Given the description of an element on the screen output the (x, y) to click on. 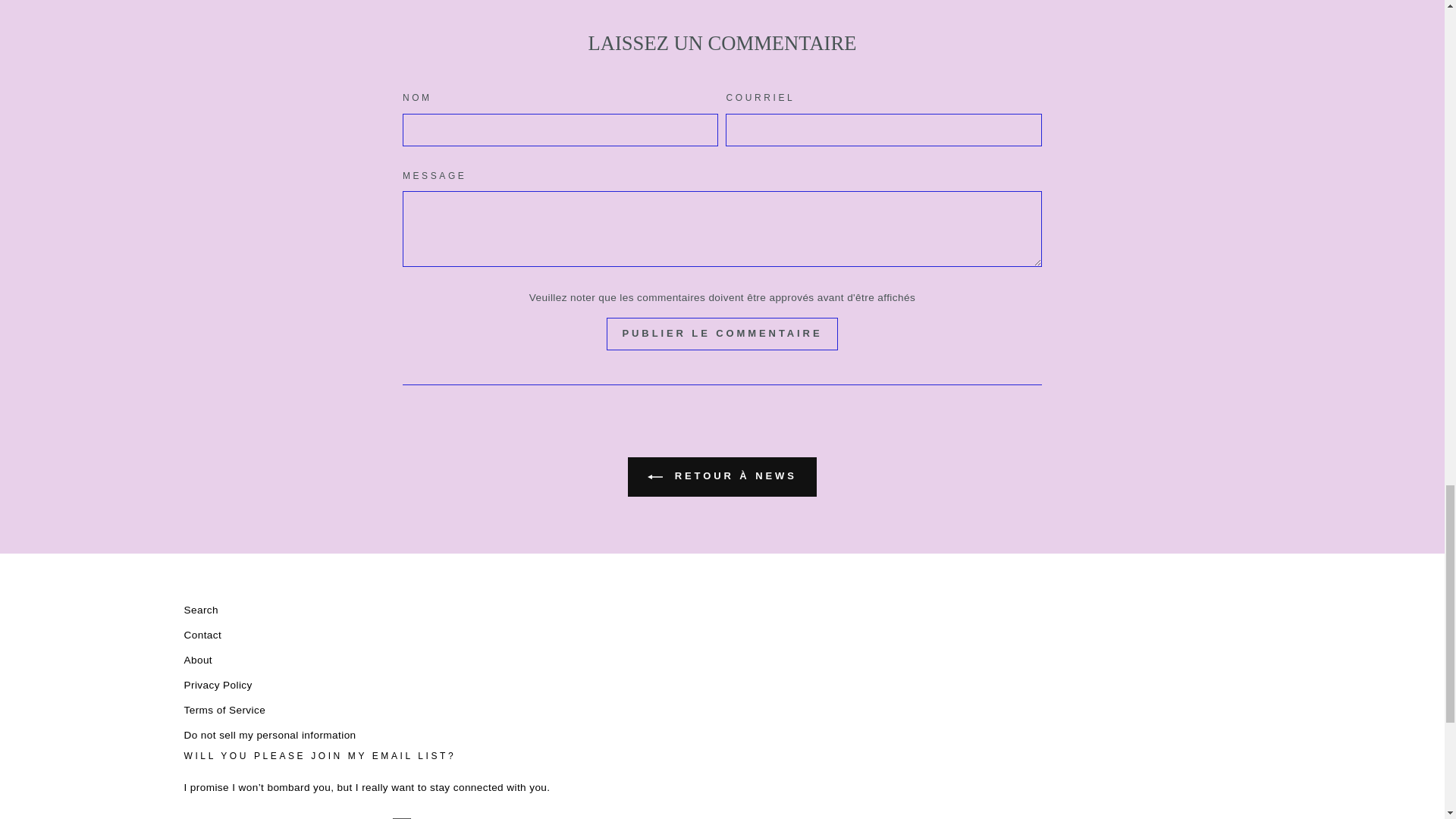
Search (199, 609)
PUBLIER LE COMMENTAIRE (722, 333)
